Given the description of an element on the screen output the (x, y) to click on. 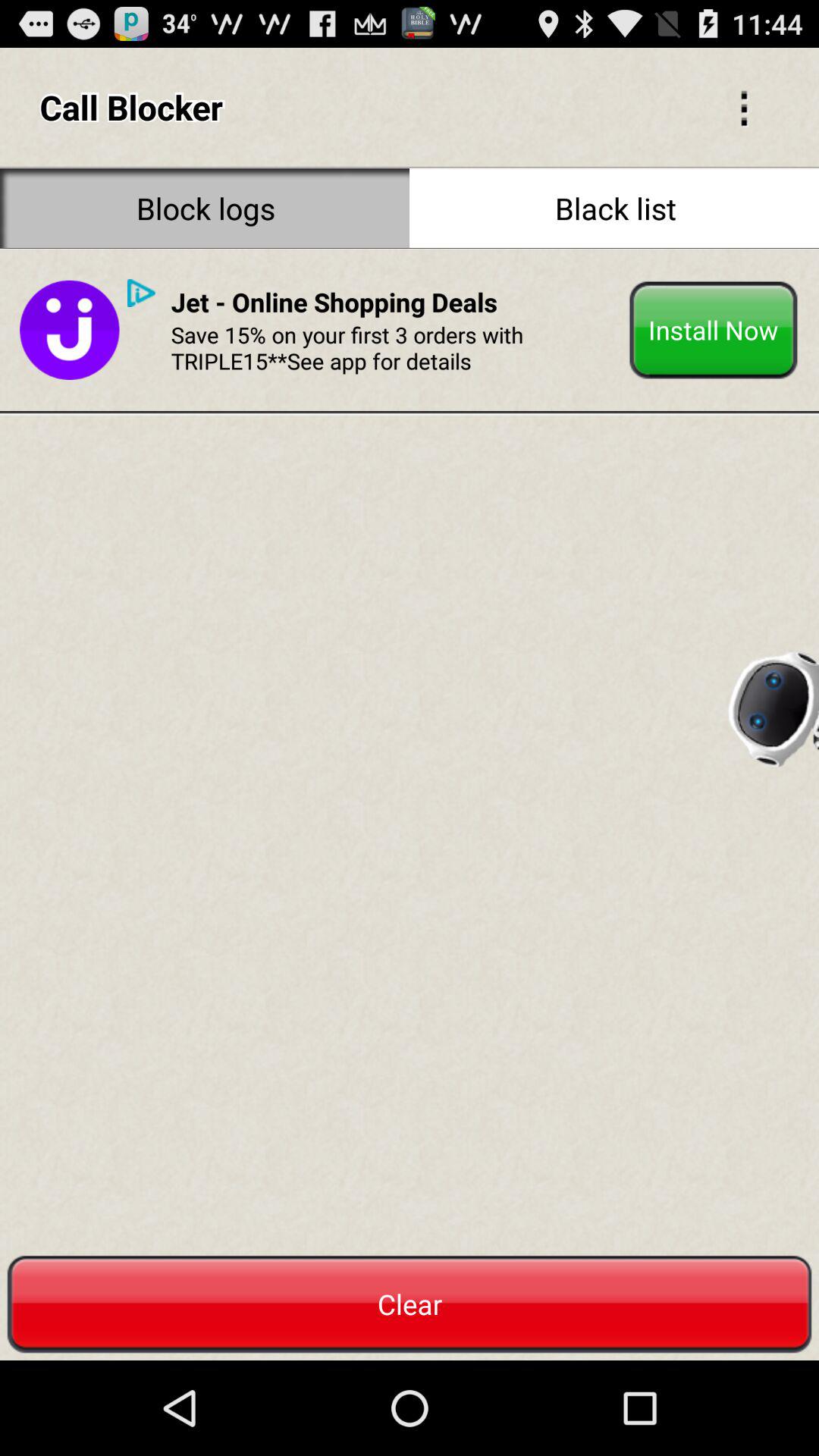
drop down list giving options about call blocker (744, 107)
